Given the description of an element on the screen output the (x, y) to click on. 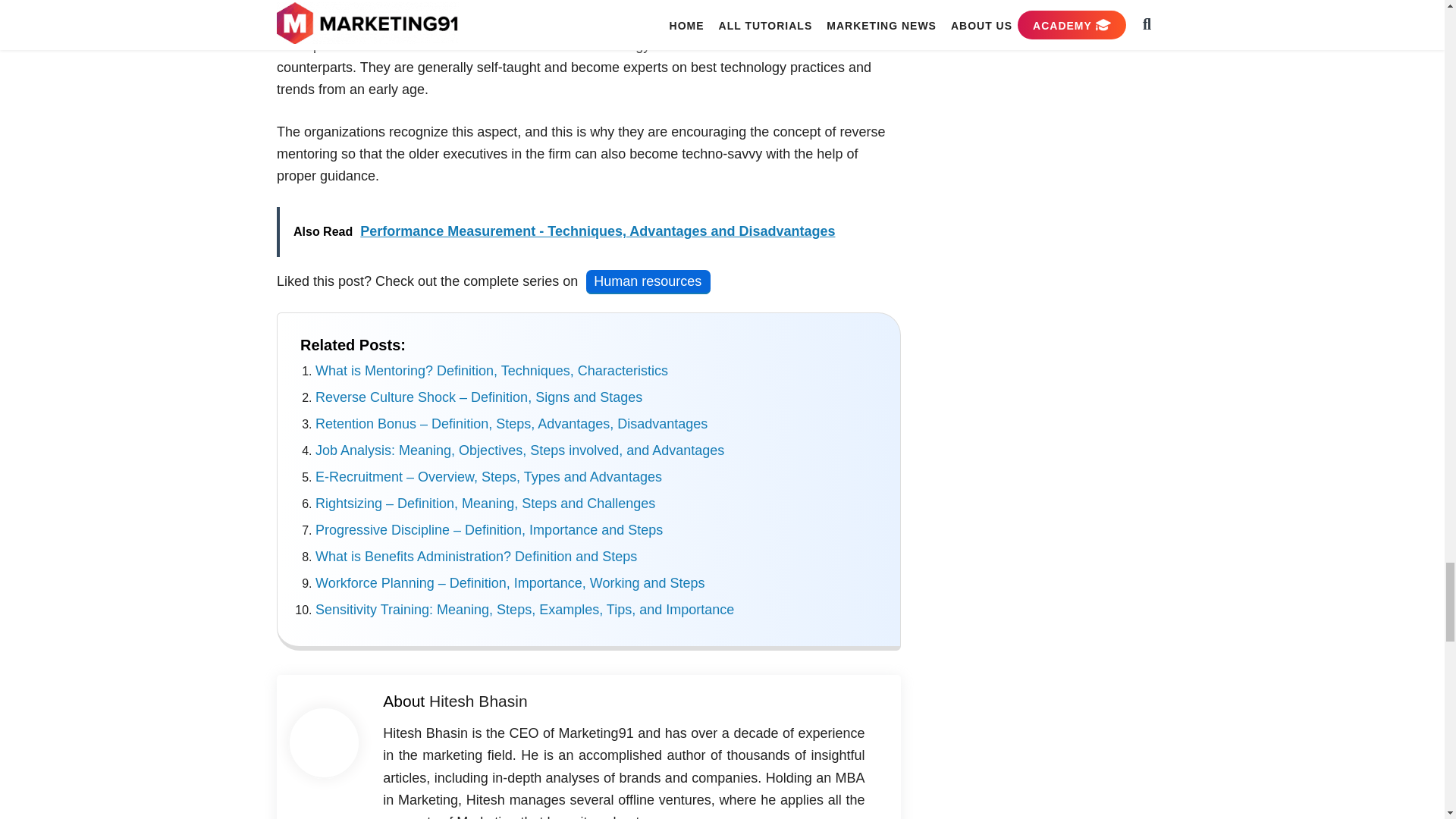
What is Mentoring? Definition, Techniques, Characteristics (491, 370)
View all posts by Hitesh Bhasin (478, 701)
What is Benefits Administration? Definition and Steps (476, 556)
